Given the description of an element on the screen output the (x, y) to click on. 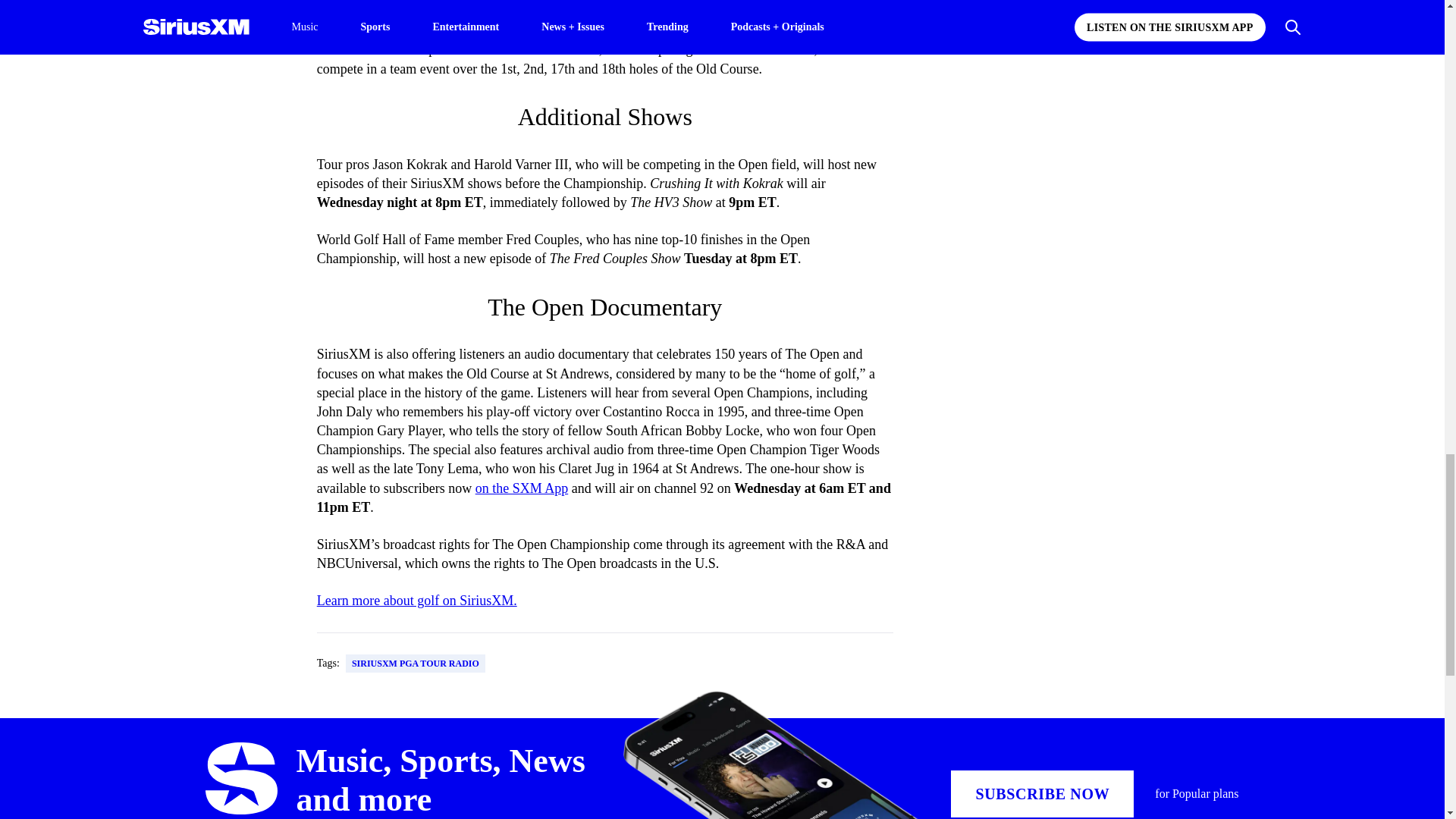
on the SXM App (522, 488)
SUBSCRIBE NOW (1042, 793)
SIRIUSXM PGA TOUR RADIO (415, 663)
Learn more about golf on SiriusXM. (416, 600)
